Given the description of an element on the screen output the (x, y) to click on. 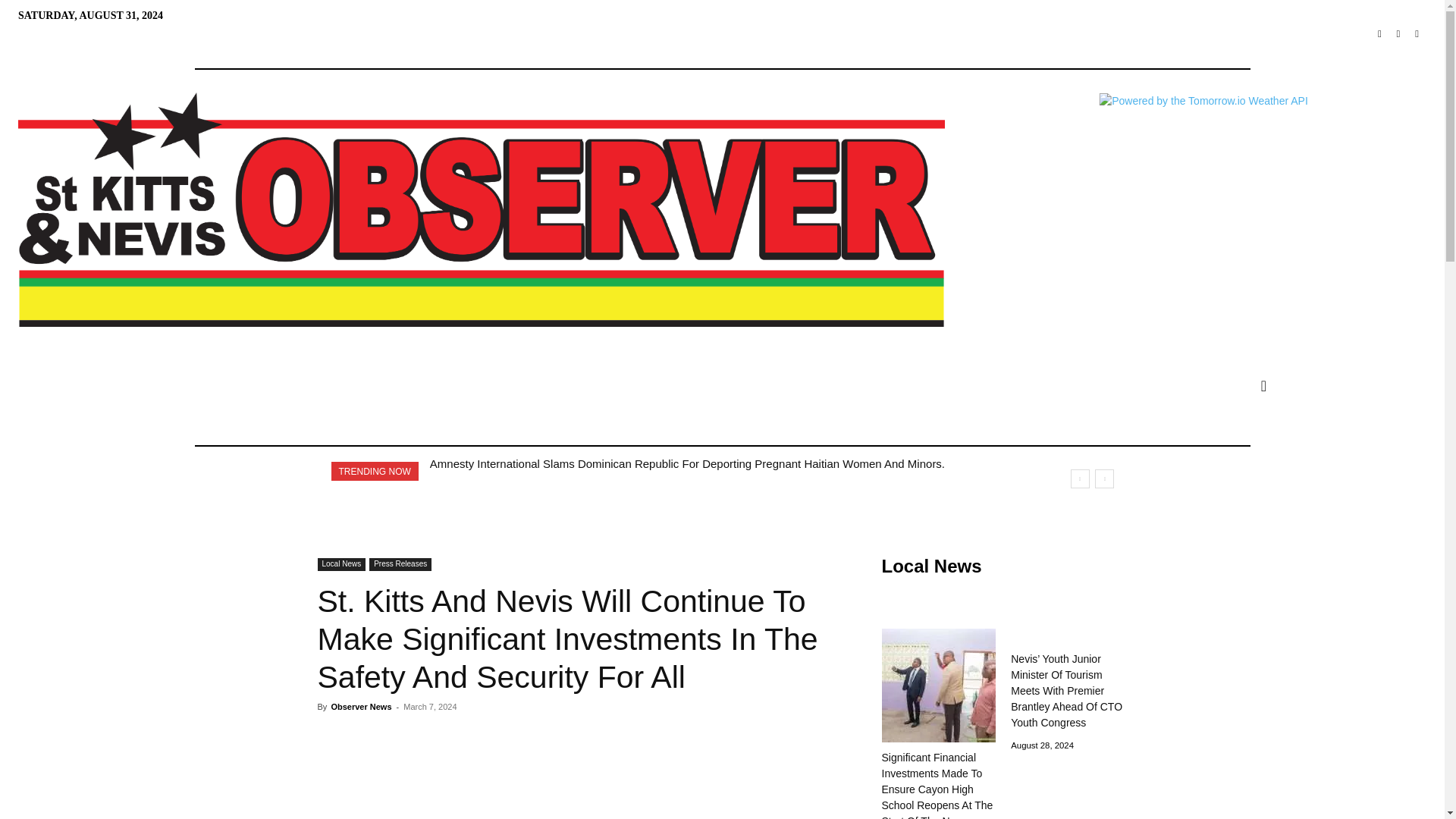
Youtube (1416, 34)
Twitter (1398, 34)
Facebook (1379, 34)
